Given the description of an element on the screen output the (x, y) to click on. 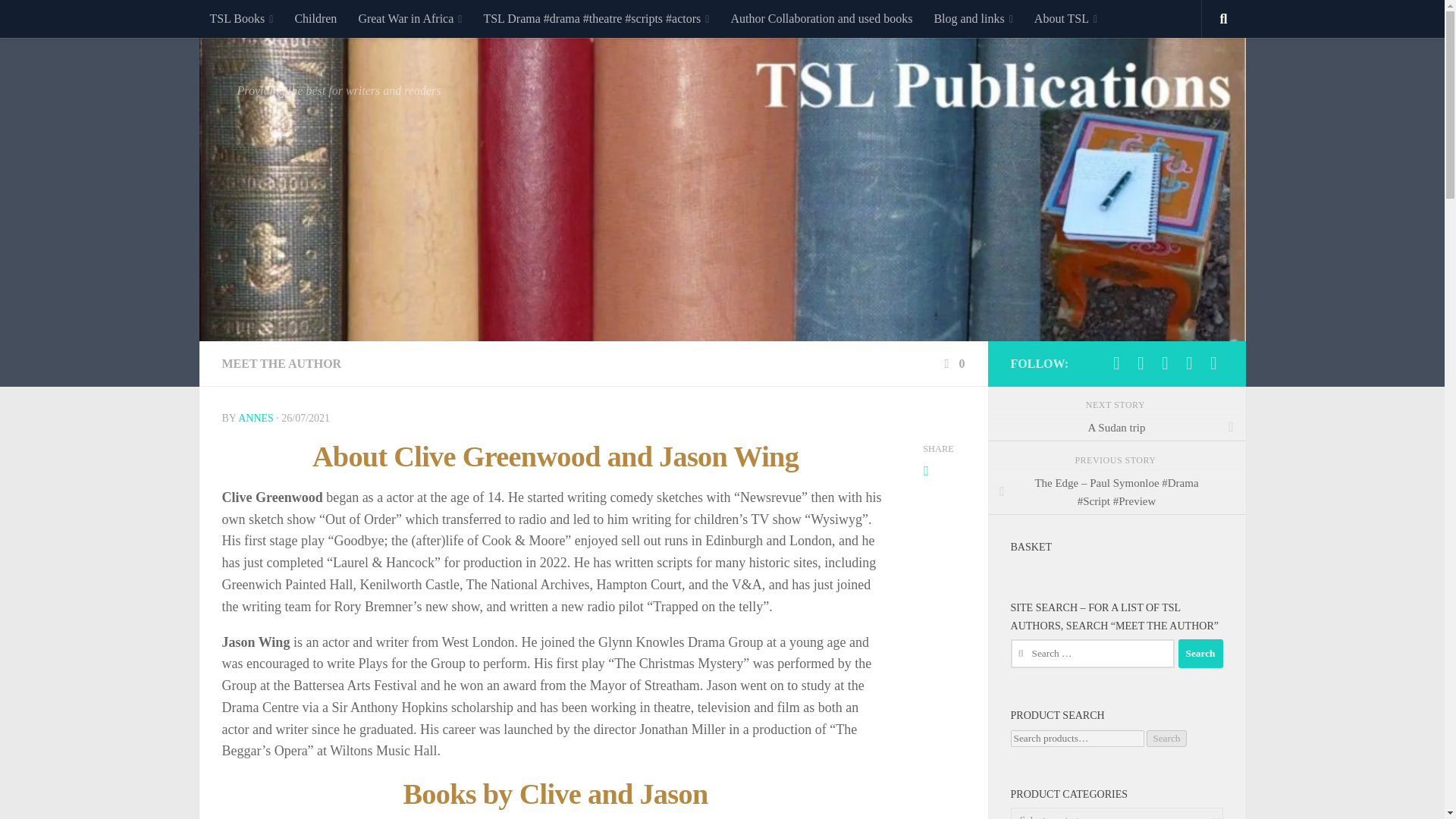
Follow us on Mastodon (1115, 362)
TSL Books (240, 18)
Search (1200, 653)
Search (1200, 653)
0 (951, 363)
Follow us on Pinterest (1213, 362)
Follow us on Instagram (1140, 362)
About TSL (1065, 18)
MEET THE AUTHOR (280, 363)
Follow us on Facebook (1164, 362)
